Given the description of an element on the screen output the (x, y) to click on. 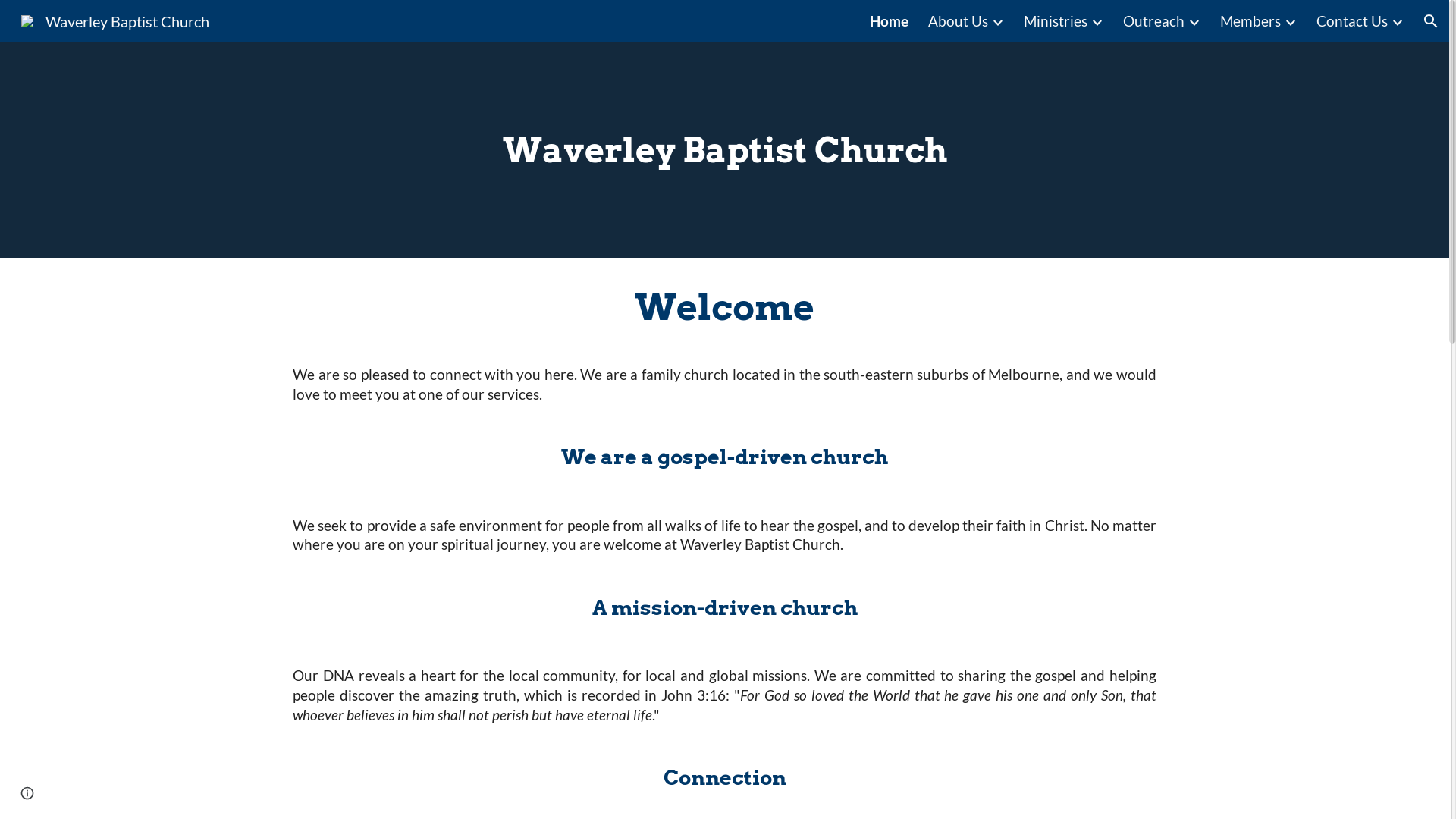
Expand/Collapse Element type: hover (1396, 20)
Expand/Collapse Element type: hover (1193, 20)
Waverley Baptist Church Element type: text (115, 18)
About Us Element type: text (958, 20)
Expand/Collapse Element type: hover (1096, 20)
Outreach Element type: text (1153, 20)
Ministries Element type: text (1055, 20)
Expand/Collapse Element type: hover (997, 20)
Contact Us Element type: text (1351, 20)
Members Element type: text (1250, 20)
Home Element type: text (888, 20)
Expand/Collapse Element type: hover (1289, 20)
